Given the description of an element on the screen output the (x, y) to click on. 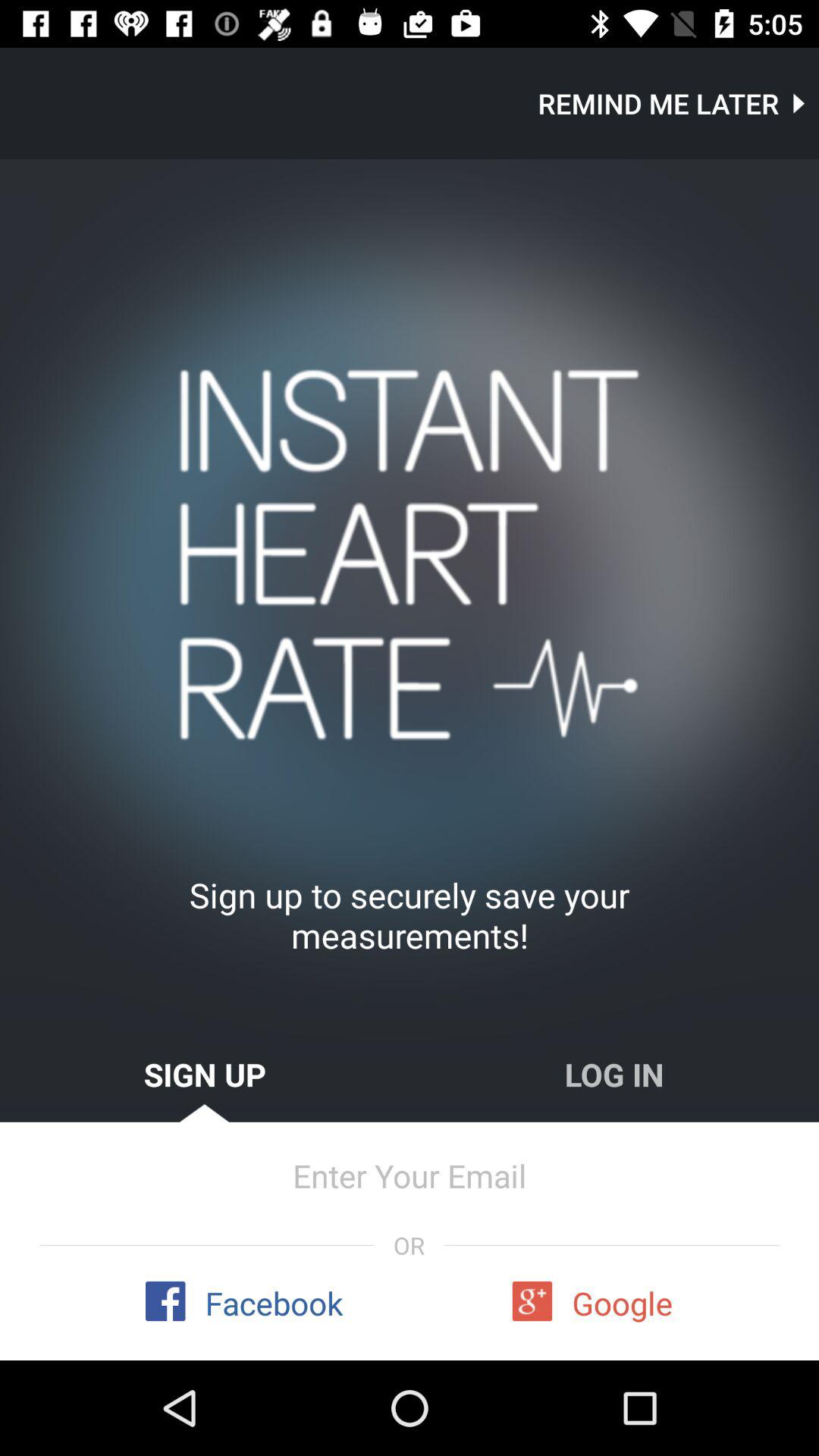
press item above enter your email item (614, 1074)
